Given the description of an element on the screen output the (x, y) to click on. 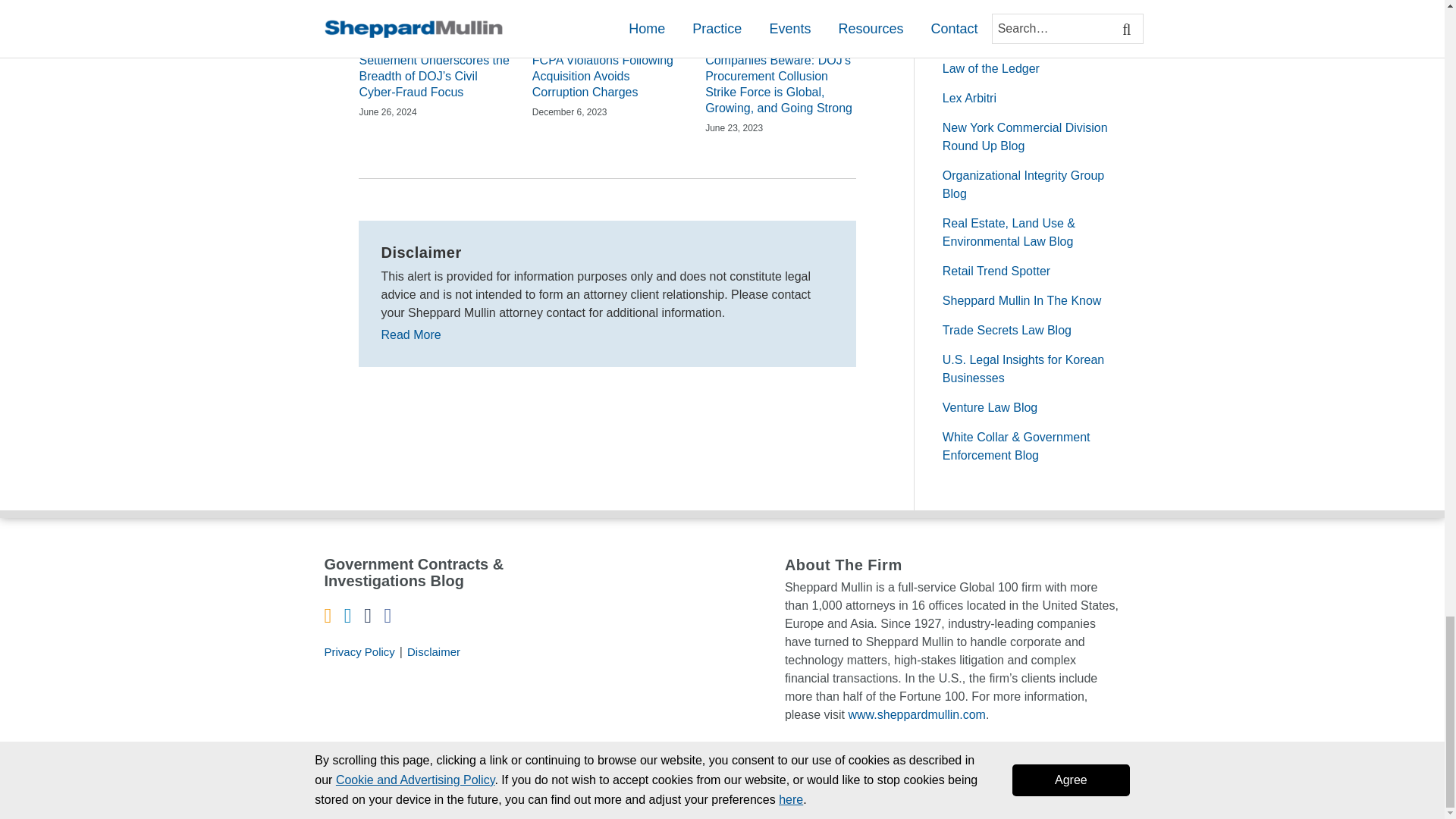
LexBlog Logo (1131, 793)
